Given the description of an element on the screen output the (x, y) to click on. 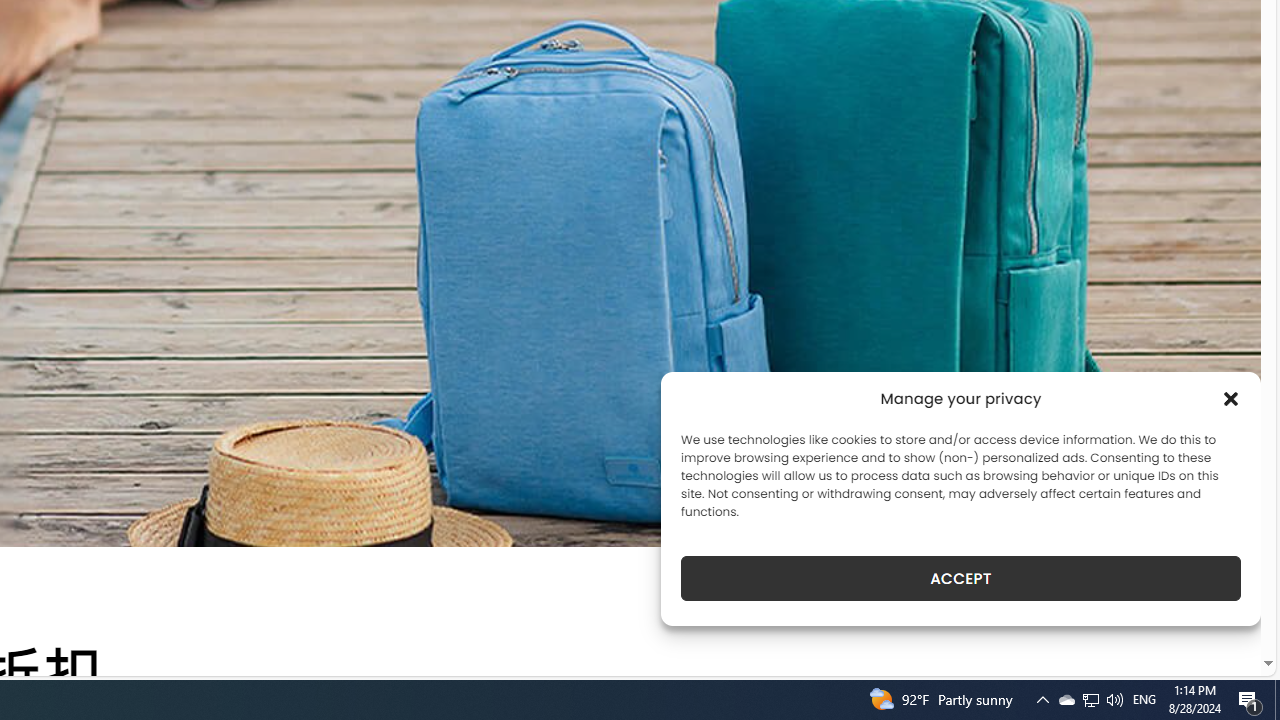
ACCEPT (960, 578)
Class: cmplz-close (1231, 398)
